Given the description of an element on the screen output the (x, y) to click on. 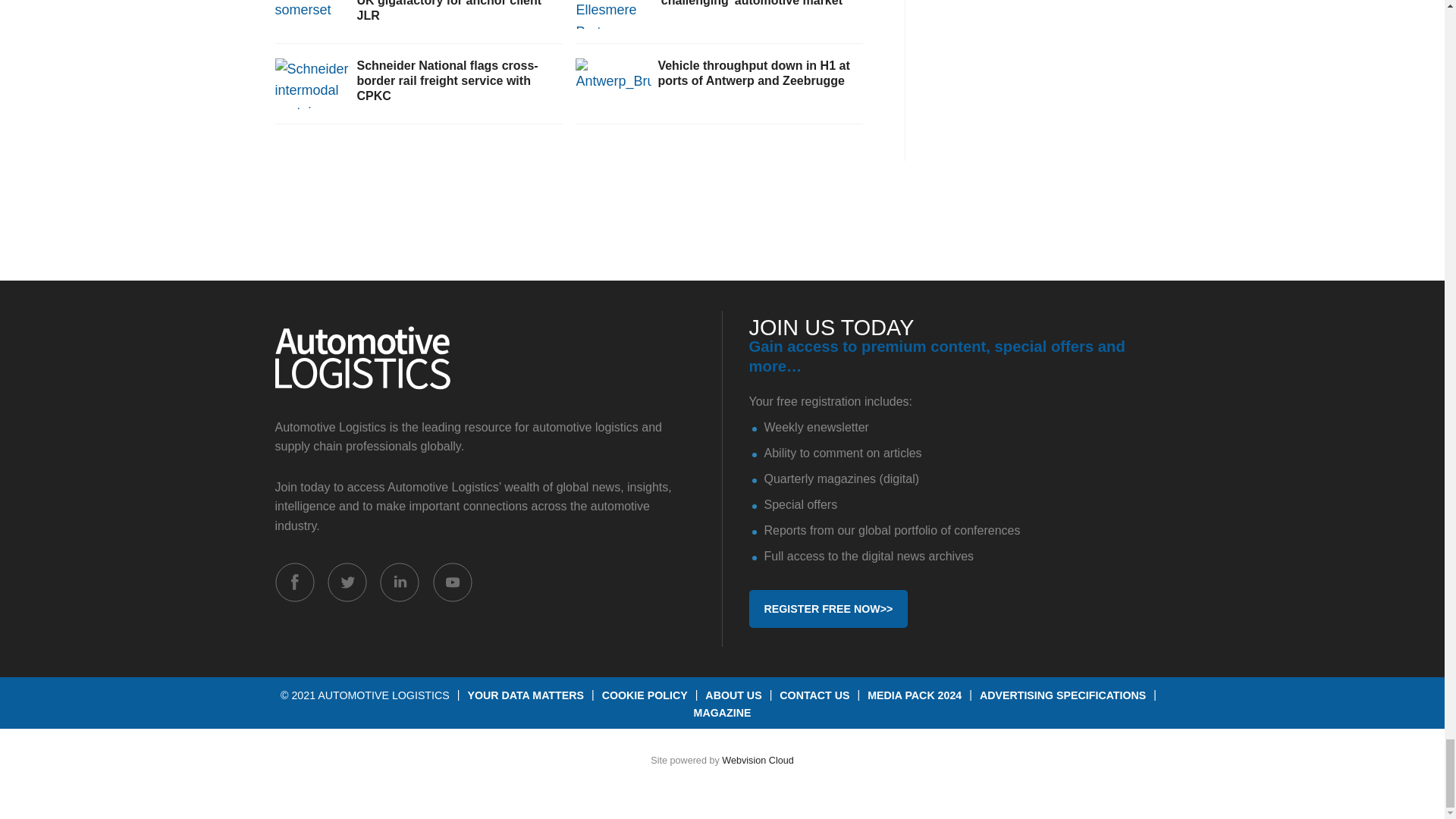
Connect with us on Twitter (346, 581)
Connect with us on Youtube (451, 581)
Connect with us on Facebook (294, 581)
Connect with us on Linked In (399, 581)
